Given the description of an element on the screen output the (x, y) to click on. 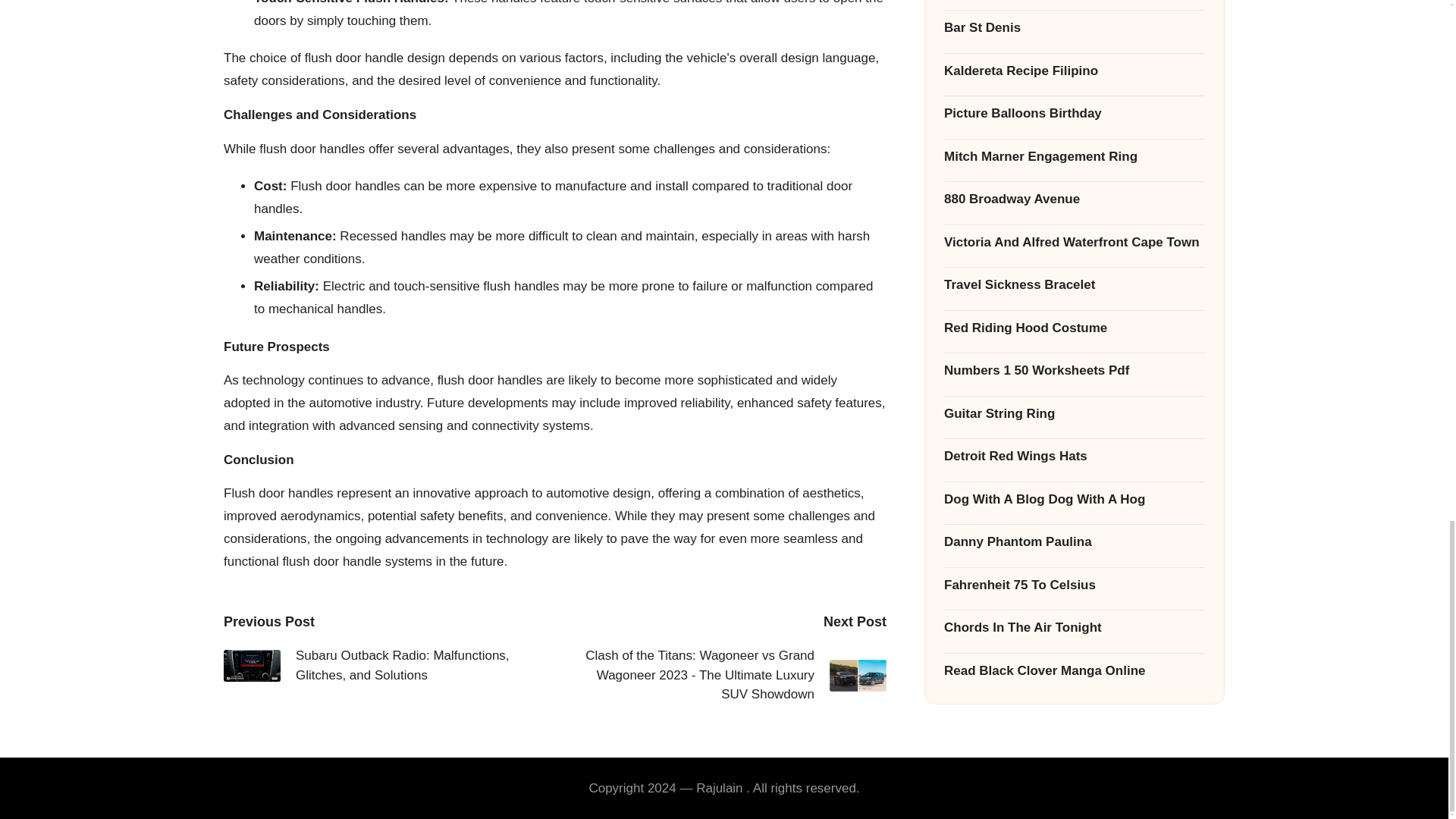
Detroit Red Wings Hats (1074, 30)
Subaru Outback Radio: Malfunctions, Glitches, and Solutions (252, 665)
Subaru Outback Radio: Malfunctions, Glitches, and Solutions (389, 665)
